Given the description of an element on the screen output the (x, y) to click on. 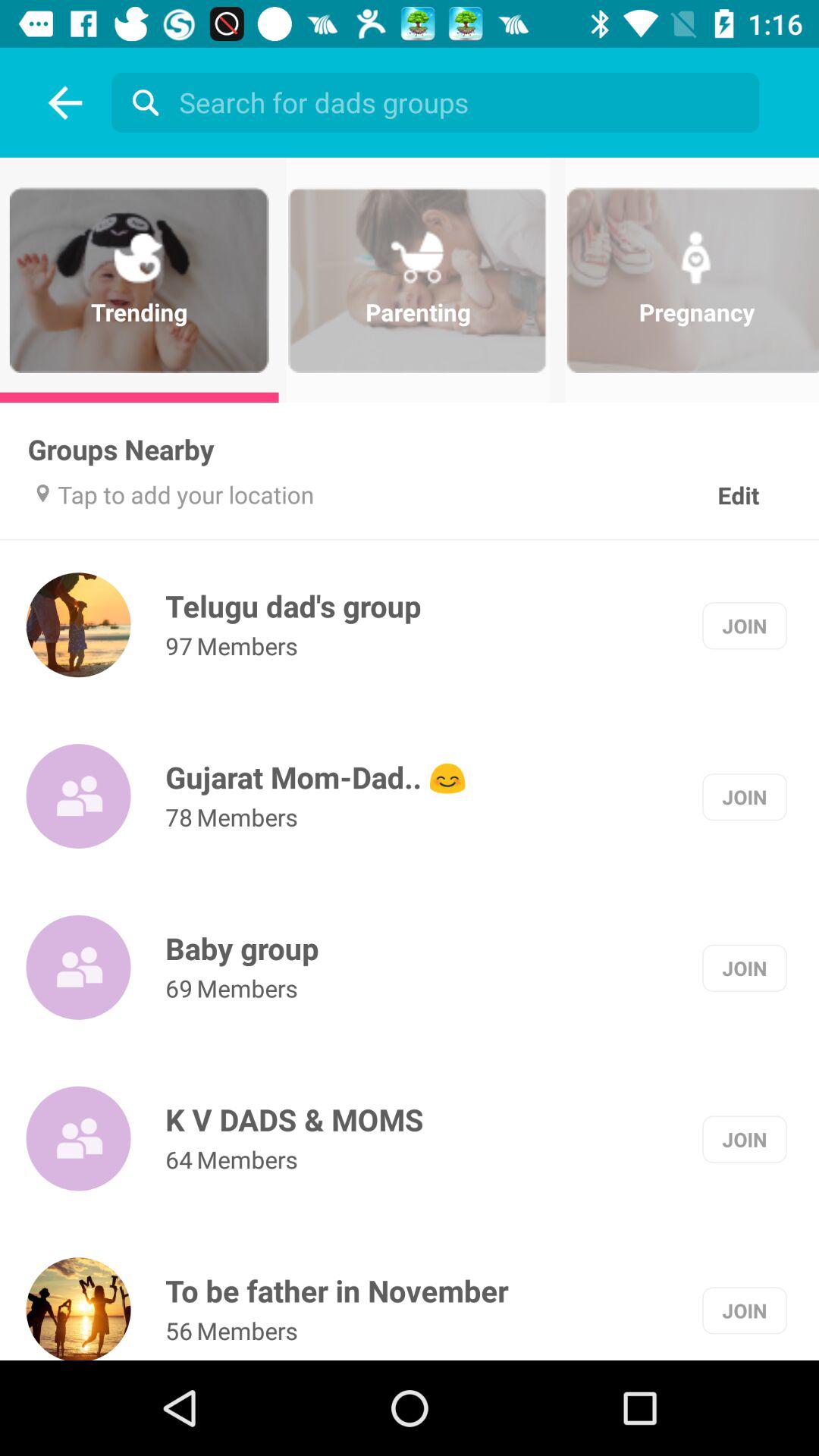
launch item next to members item (178, 1159)
